Given the description of an element on the screen output the (x, y) to click on. 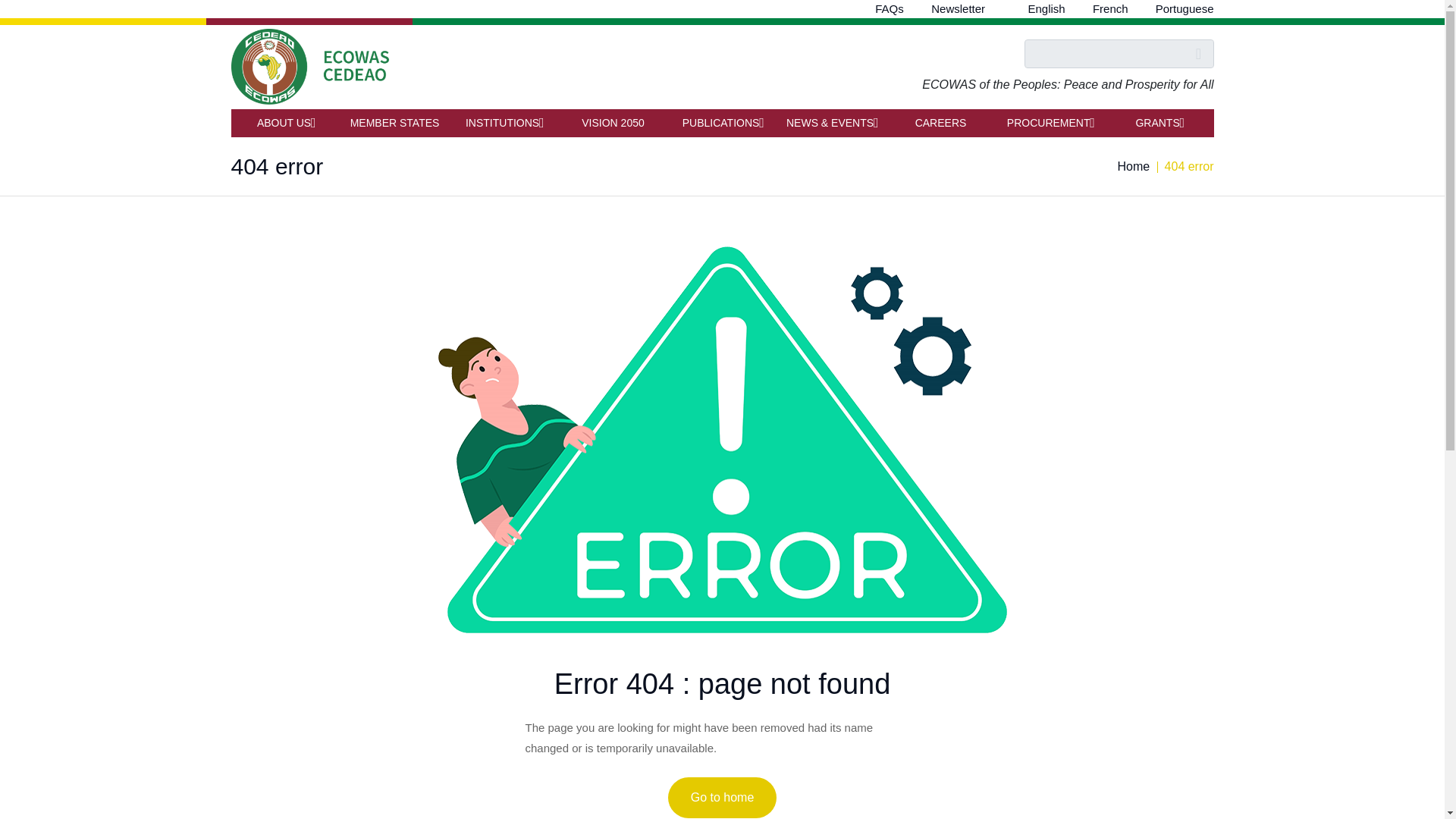
MEMBER STATES (393, 122)
English (1046, 9)
French (1110, 9)
Portuguese (1185, 9)
Newsletter (958, 8)
Newsletter (958, 8)
FAQs (889, 8)
INSTITUTIONS  (502, 122)
English (1046, 9)
Portuguese (1185, 9)
French (1110, 9)
ABOUT US  (284, 122)
FAQs (889, 8)
